Given the description of an element on the screen output the (x, y) to click on. 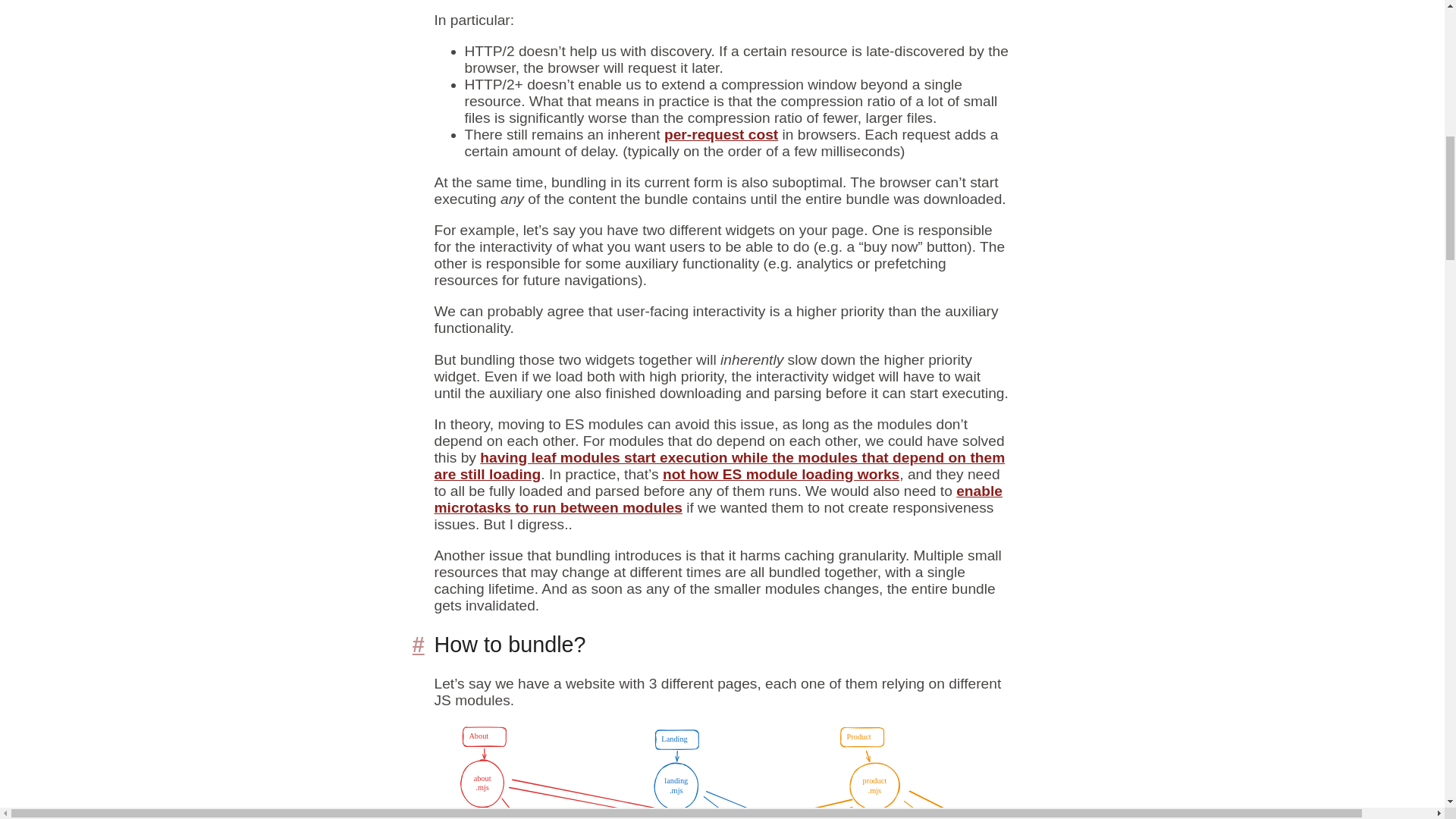
per-request cost (720, 134)
not how ES module loading works (780, 474)
enable microtasks to run between modules (718, 499)
